Given the description of an element on the screen output the (x, y) to click on. 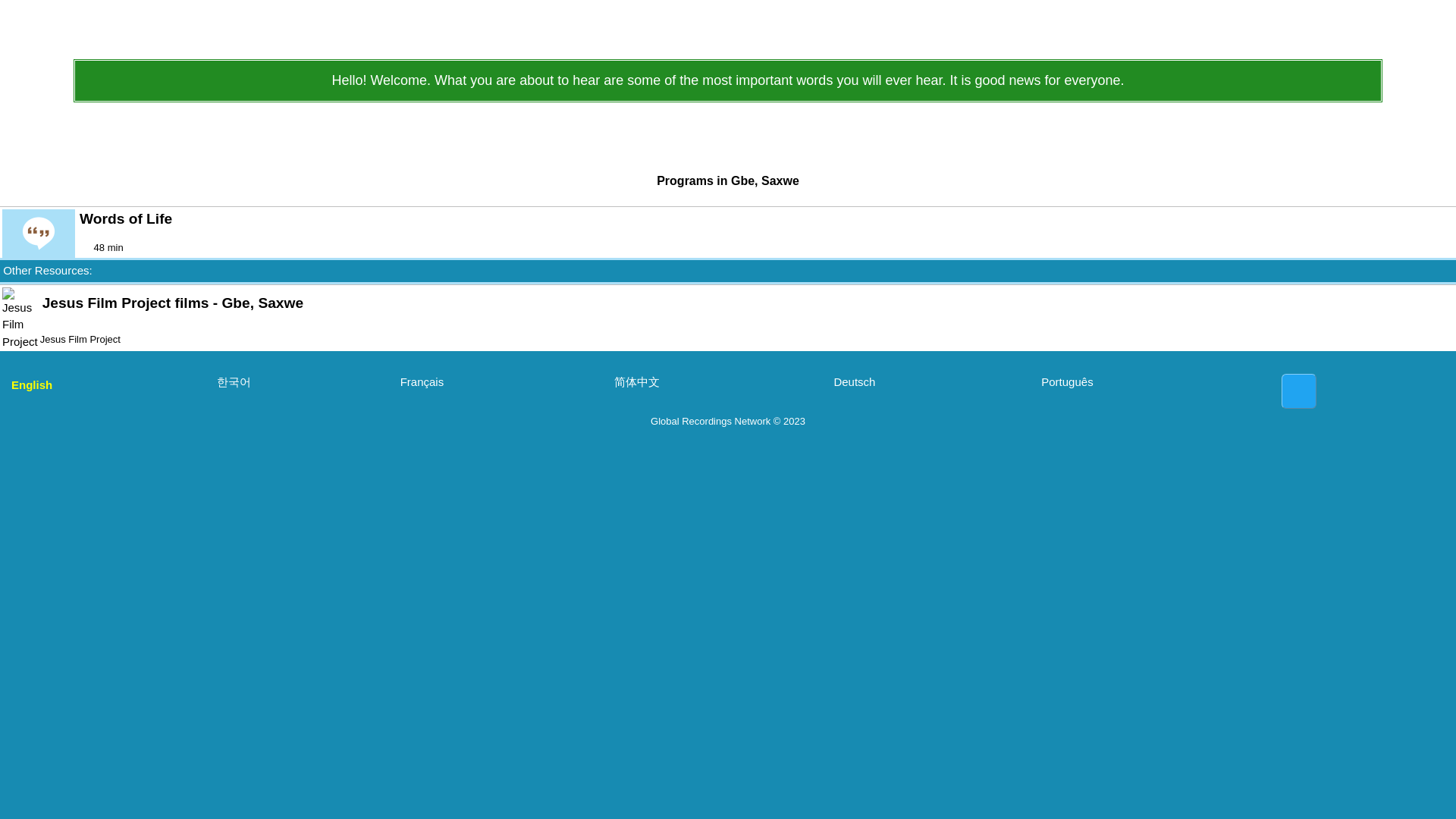
Words of Life (752, 218)
Jesus Film Project films - Gbe, Saxwe (733, 303)
Deutsch (924, 382)
